Given the description of an element on the screen output the (x, y) to click on. 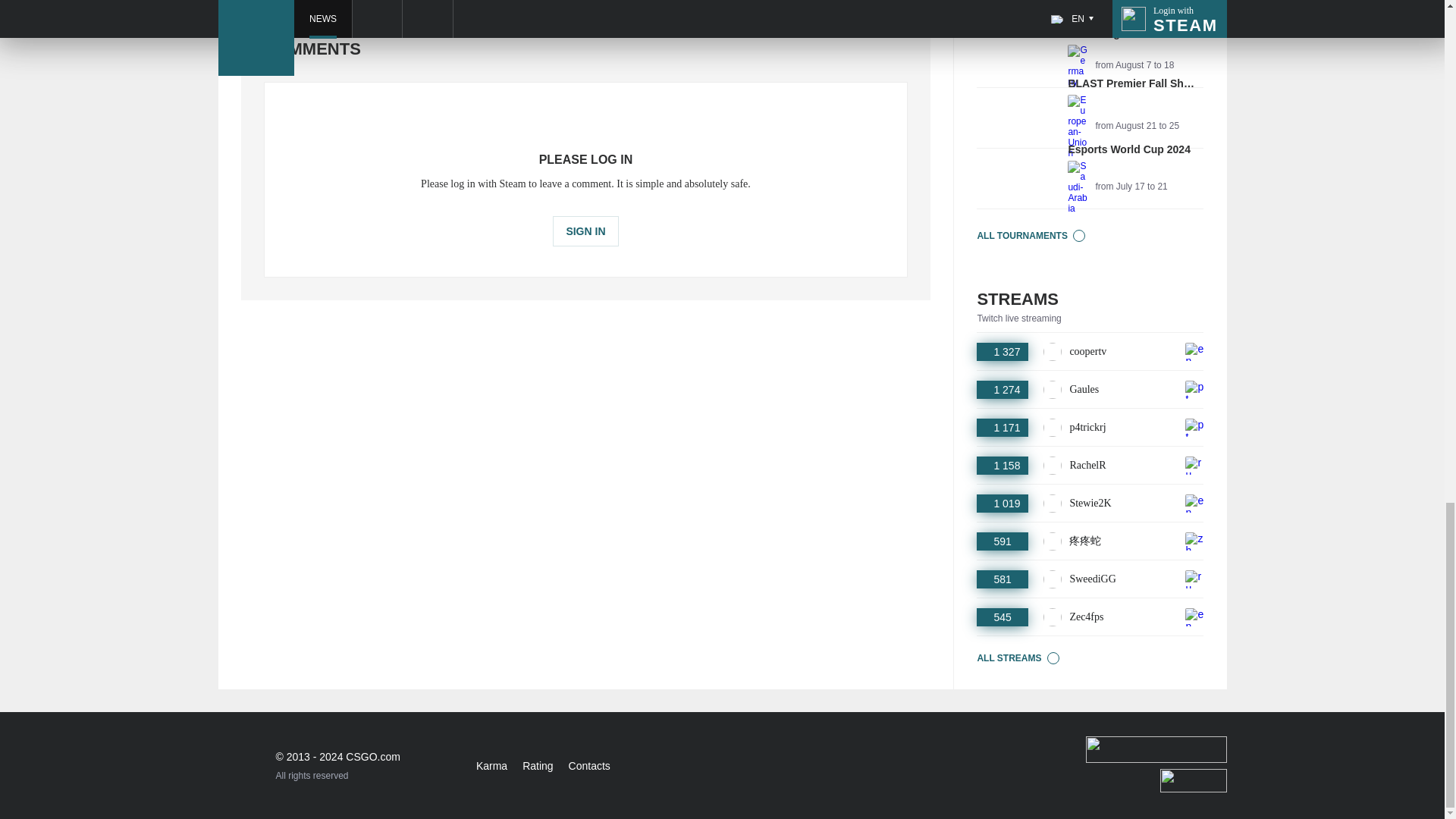
SIGN IN (1090, 13)
